Given the description of an element on the screen output the (x, y) to click on. 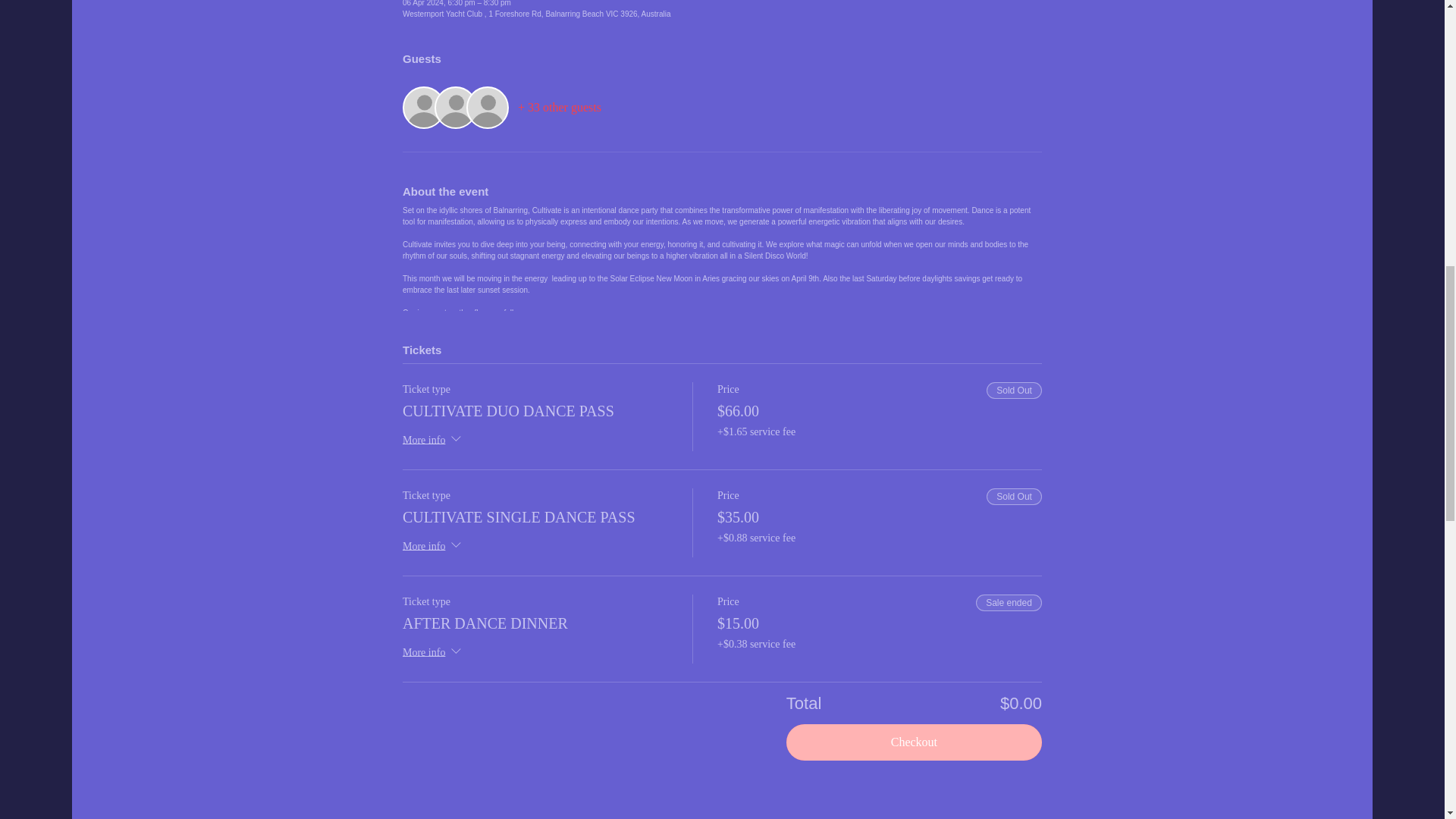
More info (433, 440)
Checkout (914, 741)
More info (433, 652)
More info (433, 547)
